Given the description of an element on the screen output the (x, y) to click on. 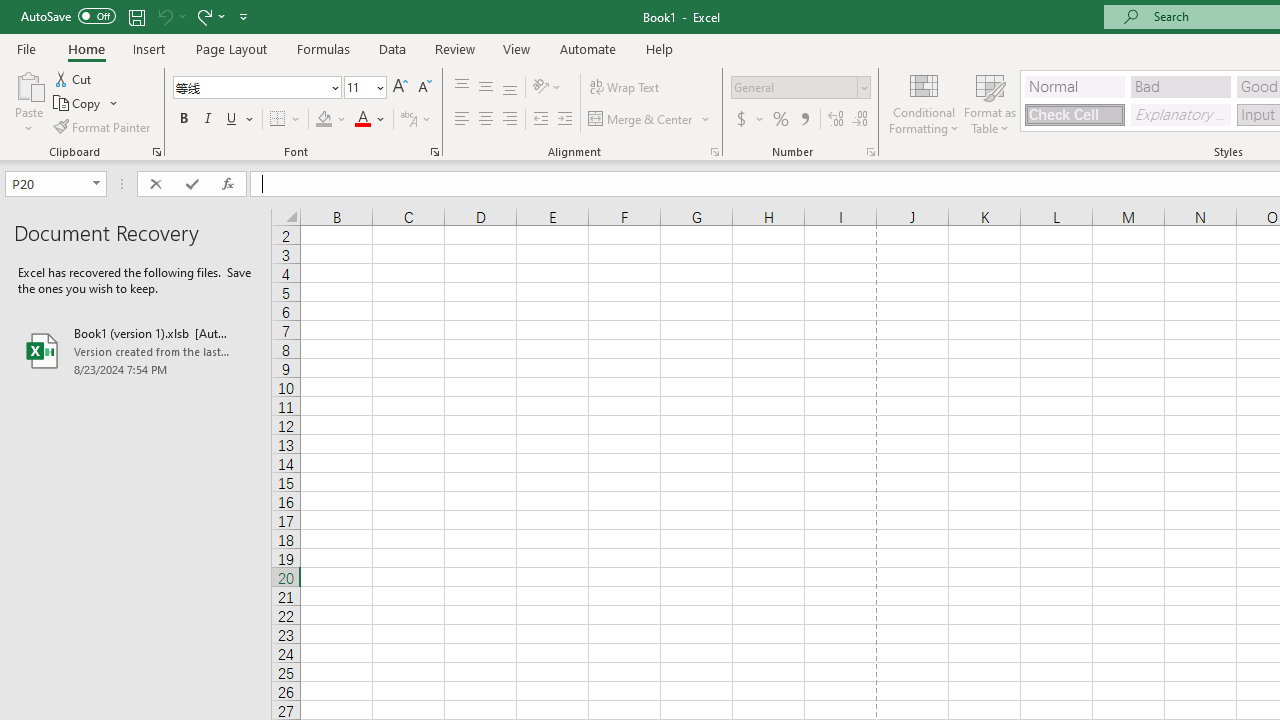
Format Cell Font (434, 151)
Center (485, 119)
Orientation (547, 87)
Fill Color RGB(255, 255, 0) (324, 119)
Accounting Number Format (741, 119)
Increase Decimal (836, 119)
Format Cell Alignment (714, 151)
Merge & Center (641, 119)
Decrease Font Size (424, 87)
